Given the description of an element on the screen output the (x, y) to click on. 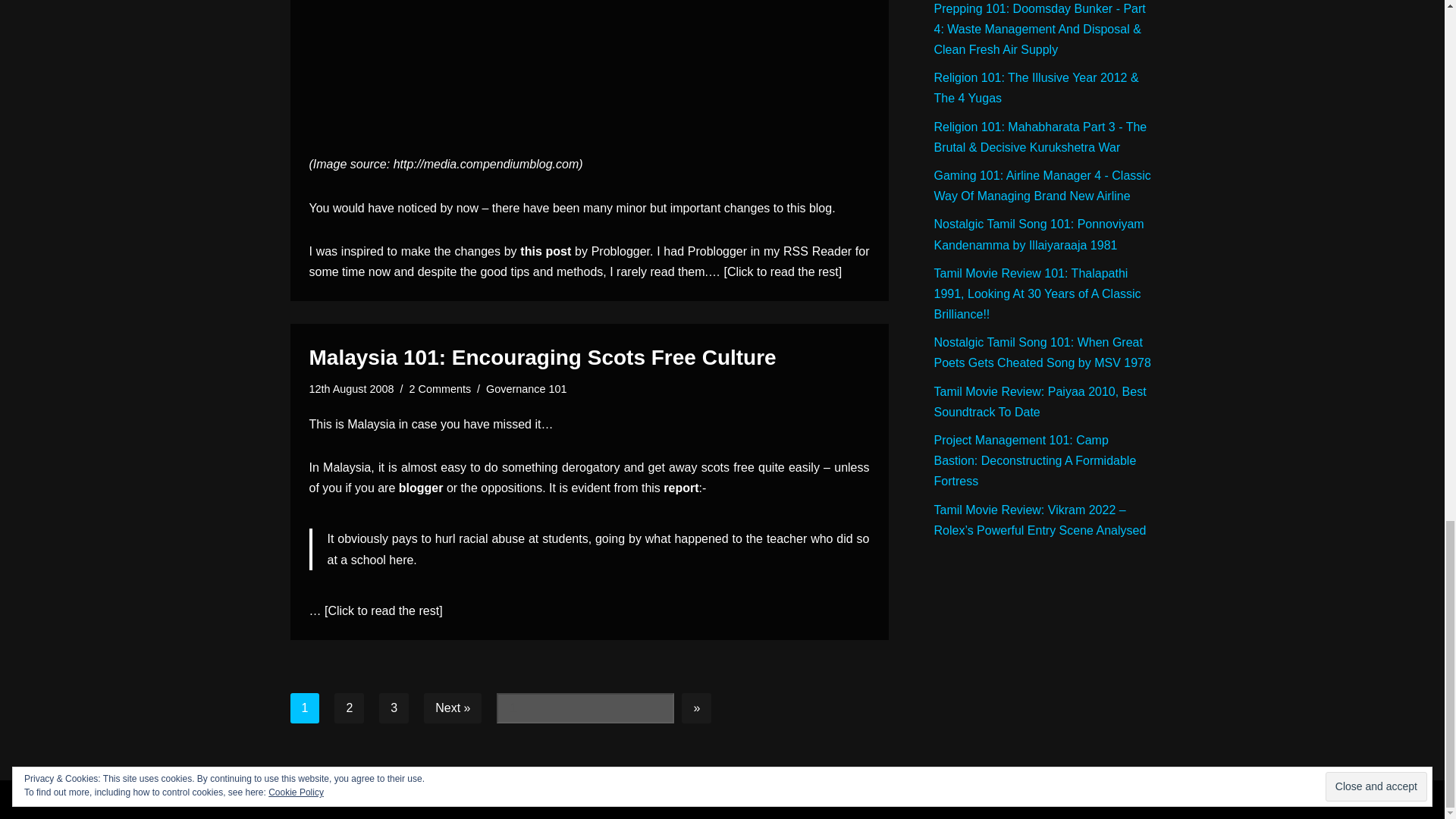
1 (585, 707)
